Given the description of an element on the screen output the (x, y) to click on. 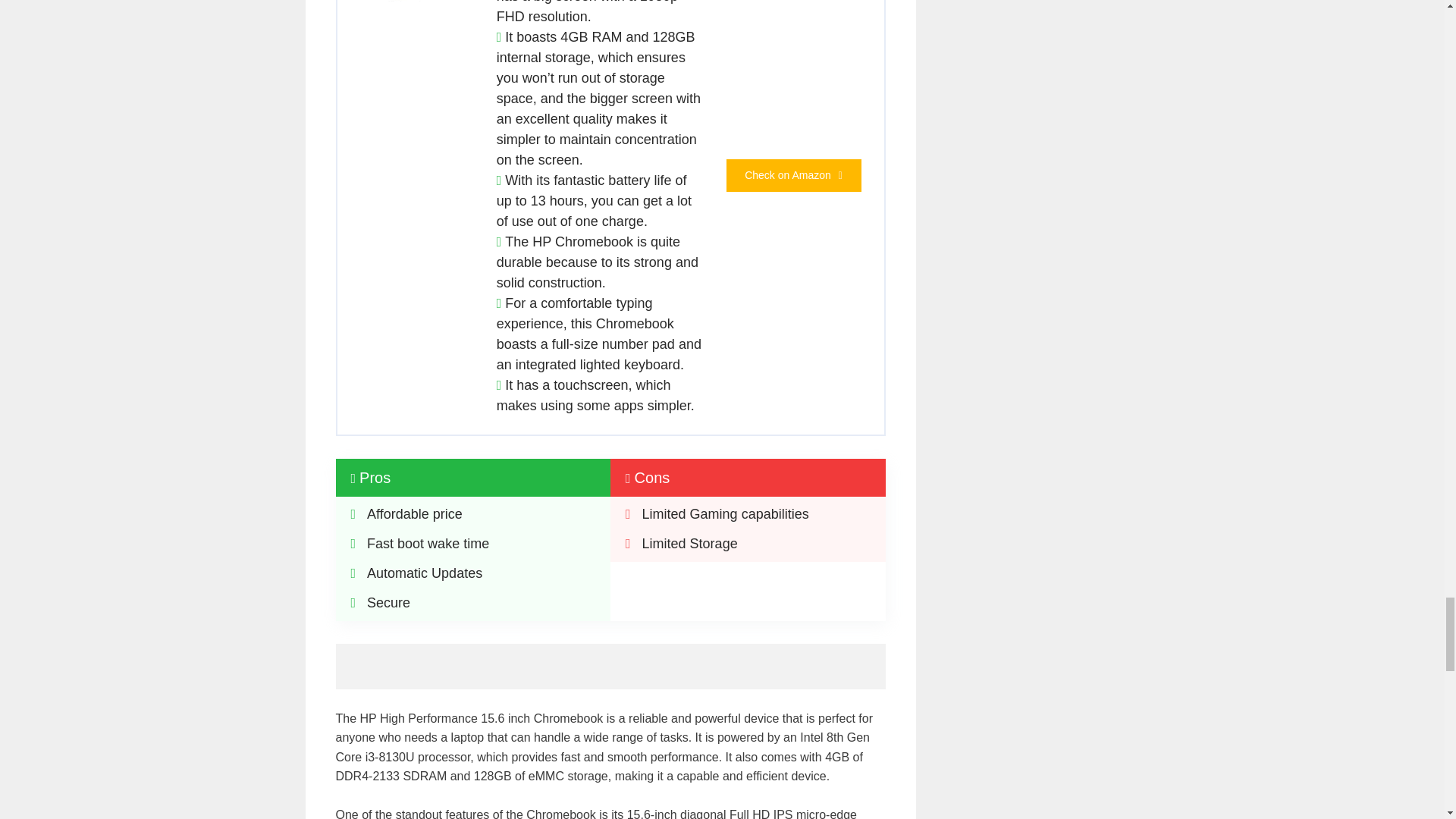
Check on Amazon (793, 174)
